Given the description of an element on the screen output the (x, y) to click on. 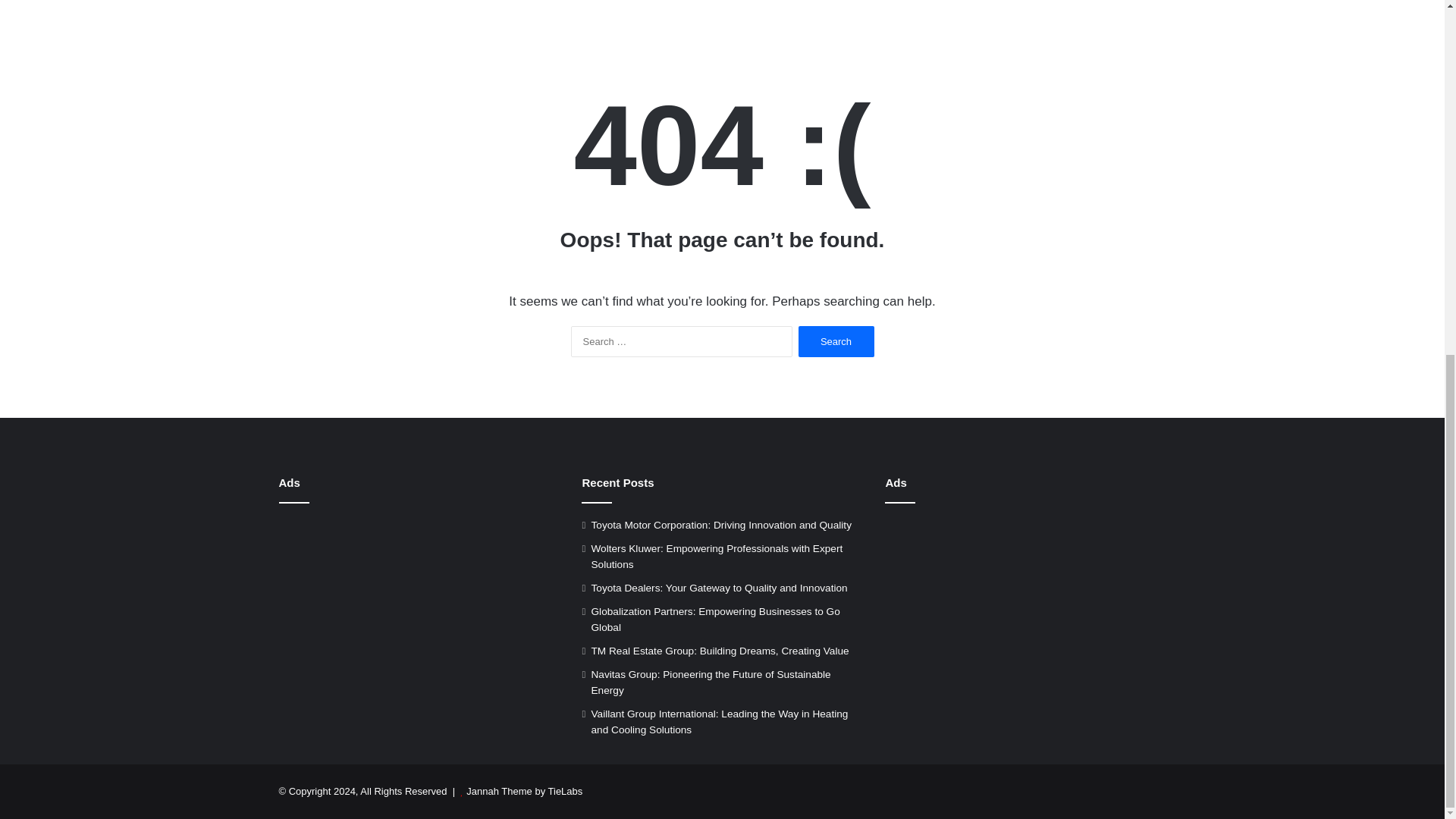
TM Real Estate Group: Building Dreams, Creating Value (719, 650)
Search (835, 341)
Search (835, 341)
Navitas Group: Pioneering the Future of Sustainable Energy (710, 682)
Toyota Dealers: Your Gateway to Quality and Innovation (719, 587)
Back to top button (1419, 260)
Search (835, 341)
Jannah Theme by TieLabs (523, 790)
